Given the description of an element on the screen output the (x, y) to click on. 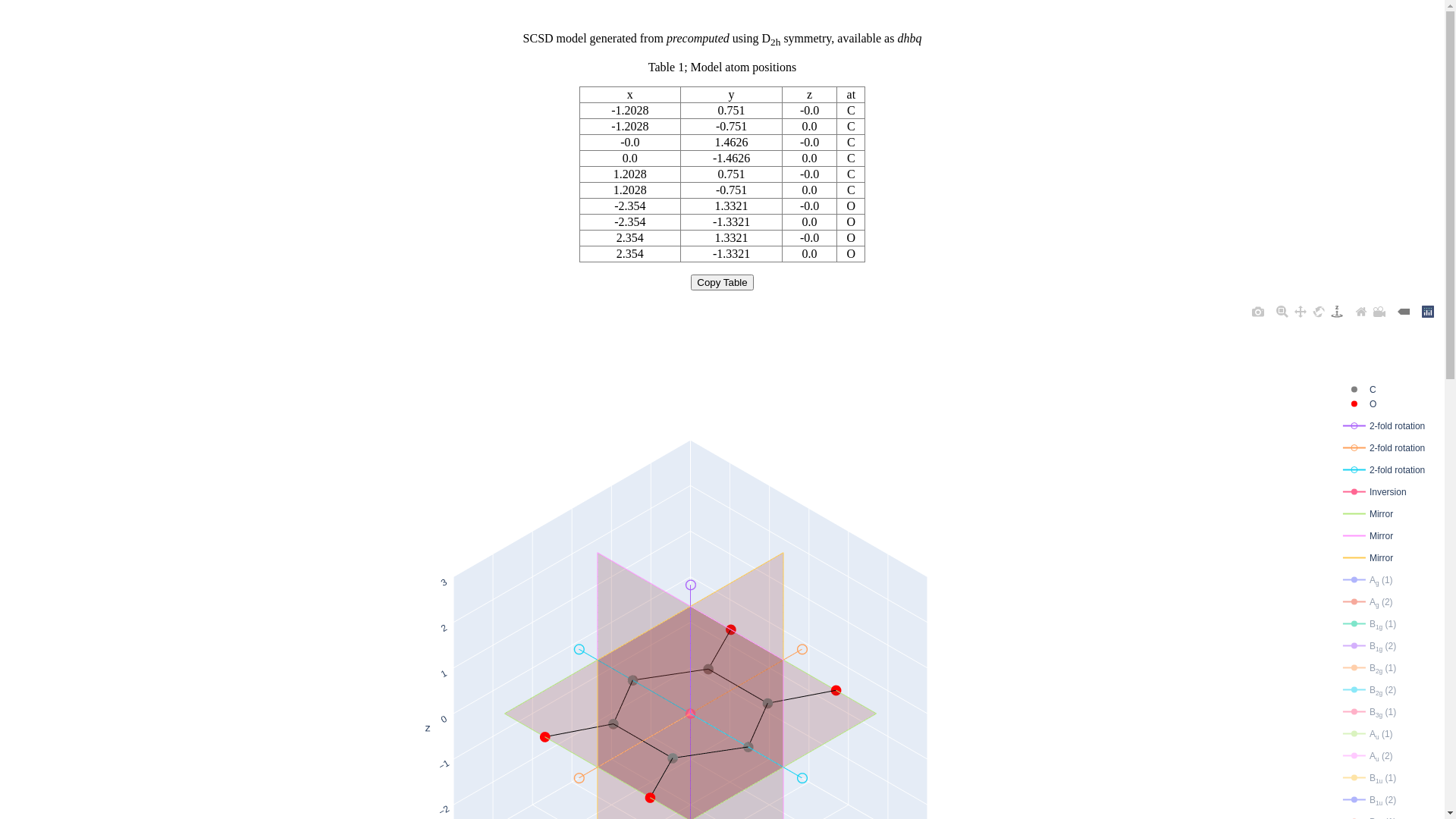
Copy Table Element type: text (721, 282)
